Given the description of an element on the screen output the (x, y) to click on. 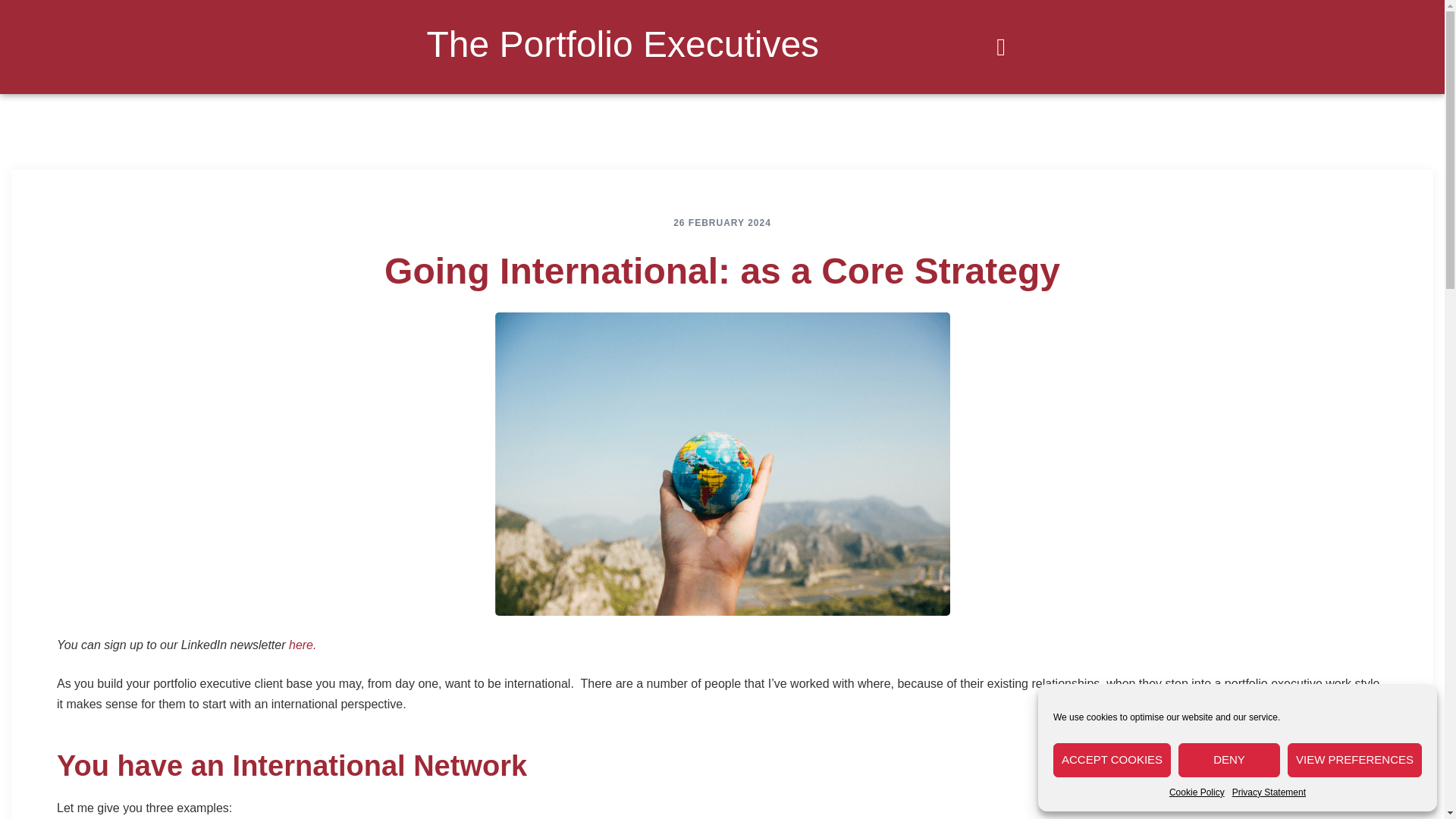
VIEW PREFERENCES (1354, 759)
26 FEBRUARY 2024 (721, 222)
here. (301, 644)
DENY (1228, 759)
Privacy Statement (1268, 792)
ACCEPT COOKIES (1111, 759)
The Portfolio Executives (622, 44)
Cookie Policy (1196, 792)
